Given the description of an element on the screen output the (x, y) to click on. 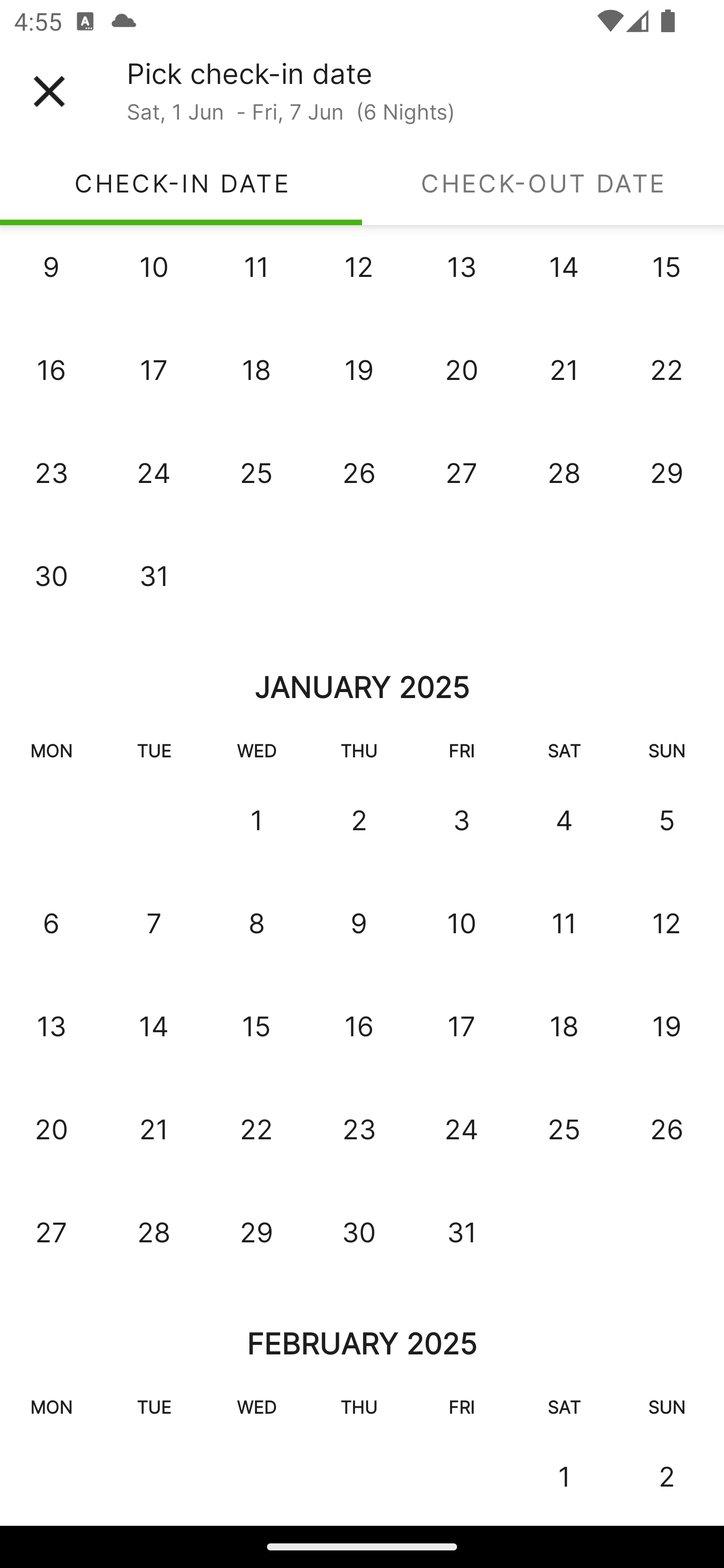
Check-out Date CHECK-OUT DATE (543, 183)
